Given the description of an element on the screen output the (x, y) to click on. 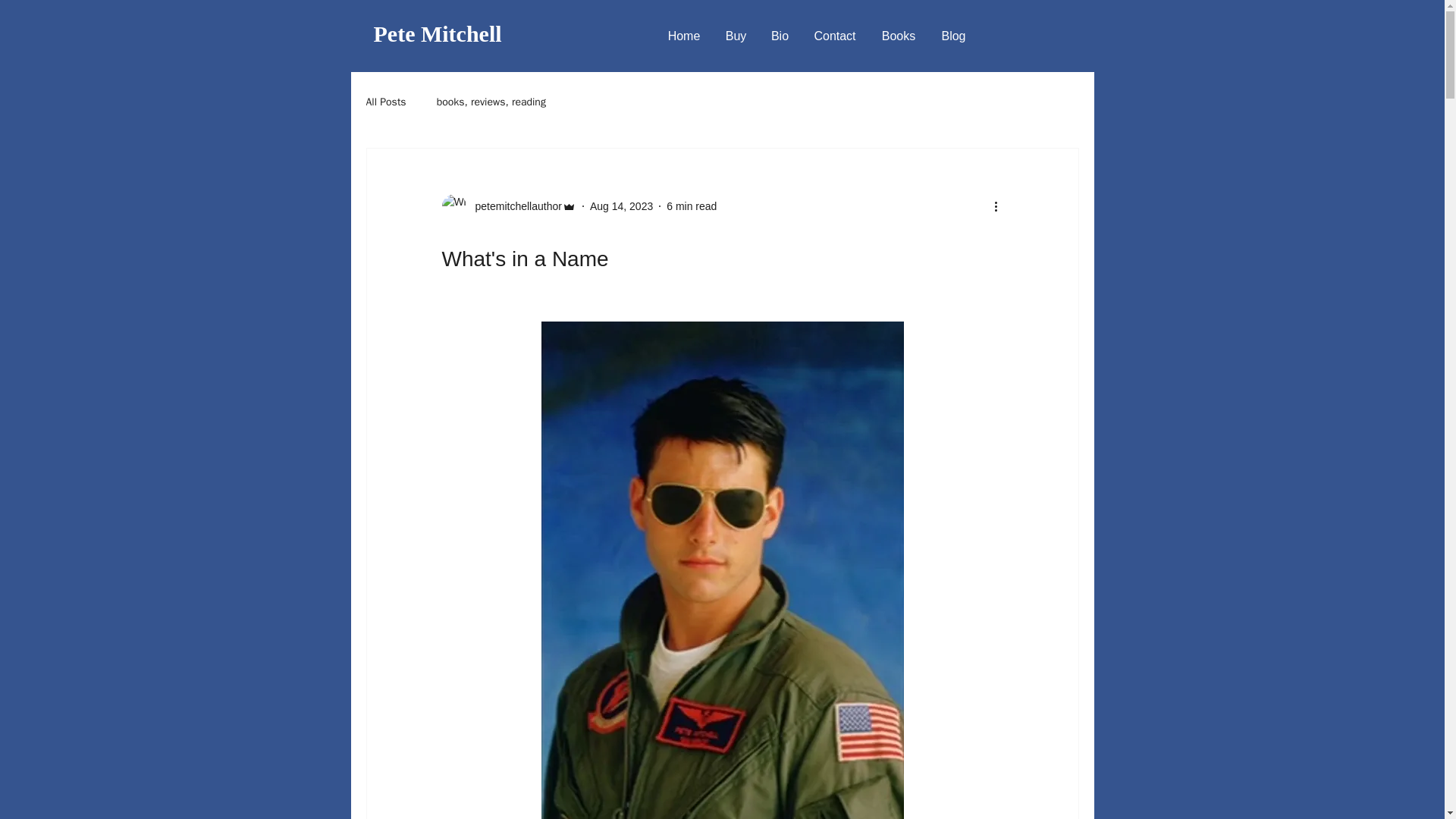
All Posts (385, 101)
Home (684, 36)
6 min read (691, 205)
petemitchellauthor (508, 206)
Bio (779, 36)
Buy (735, 36)
Books (898, 36)
Aug 14, 2023 (620, 205)
books, reviews, reading (491, 101)
Blog (953, 36)
